Given the description of an element on the screen output the (x, y) to click on. 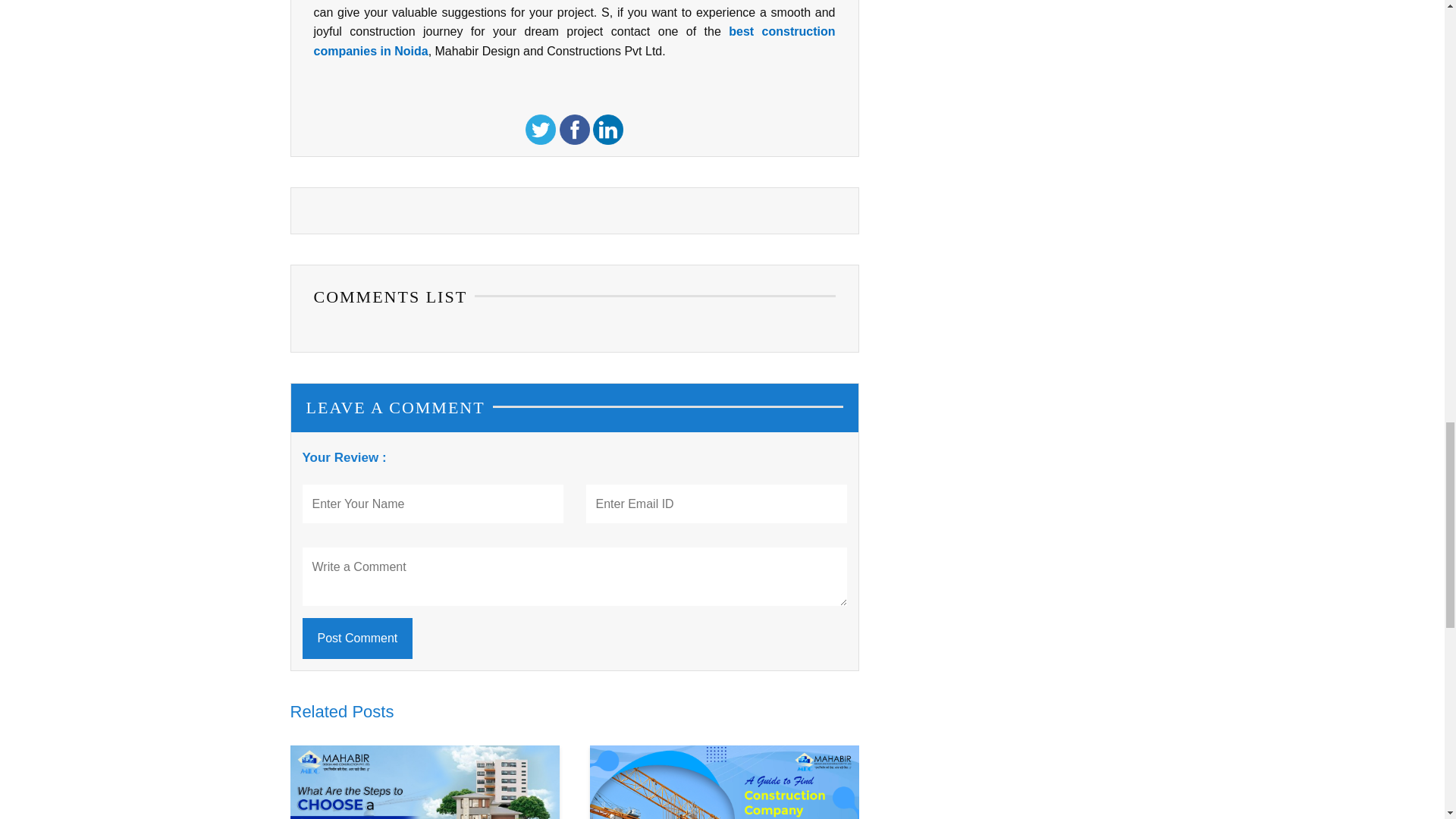
best construction companies in Noida (574, 41)
Post Comment (356, 638)
